Given the description of an element on the screen output the (x, y) to click on. 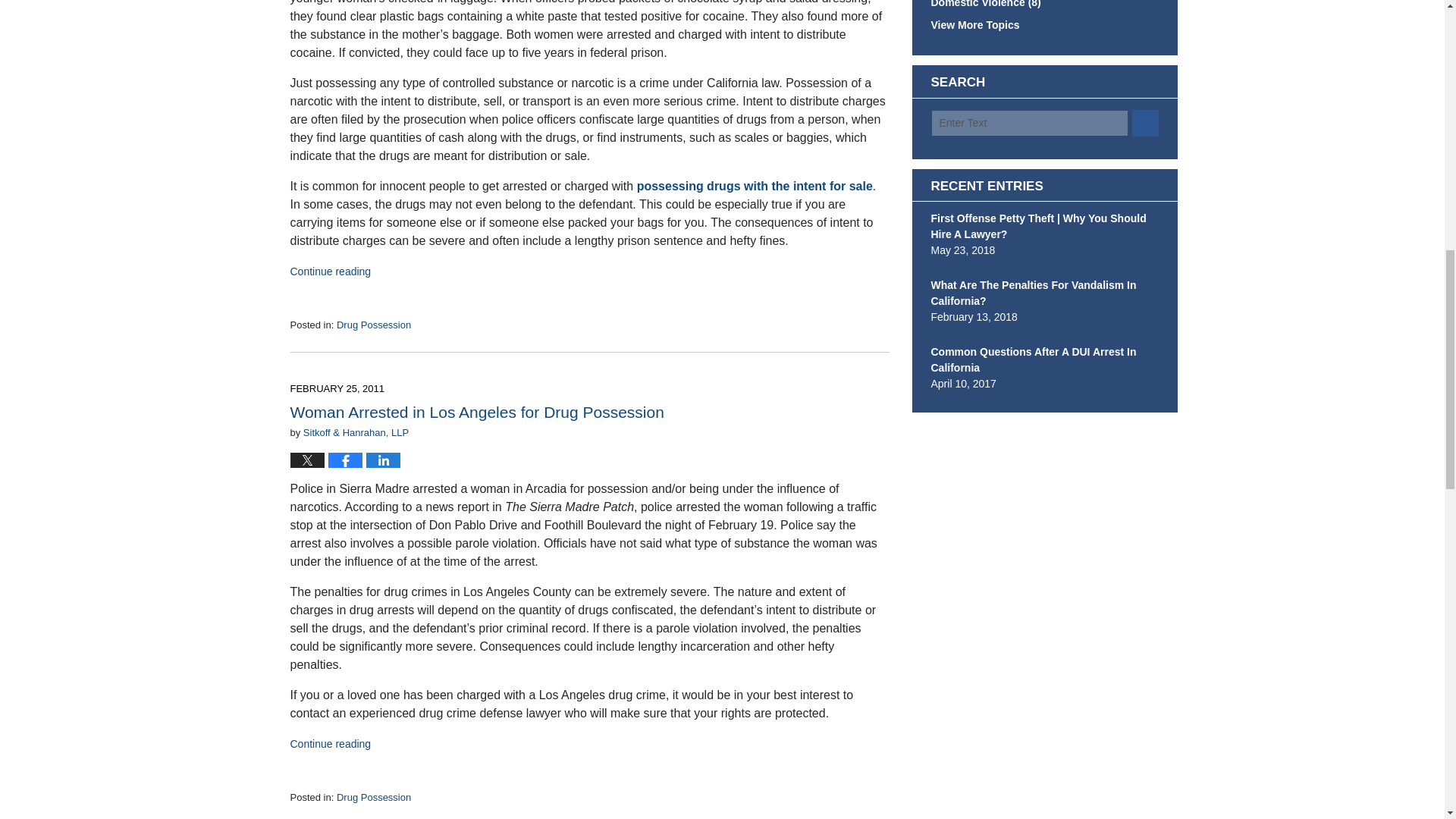
Continue reading (330, 271)
Drug Possession (373, 797)
Woman Arrested in Los Angeles for Drug Possession (476, 411)
View all posts in Drug Possession (373, 797)
possessing drugs with the intent for sale (754, 185)
Drug Possession (373, 324)
View all posts in Drug Possession (373, 324)
Continue reading (330, 744)
